Given the description of an element on the screen output the (x, y) to click on. 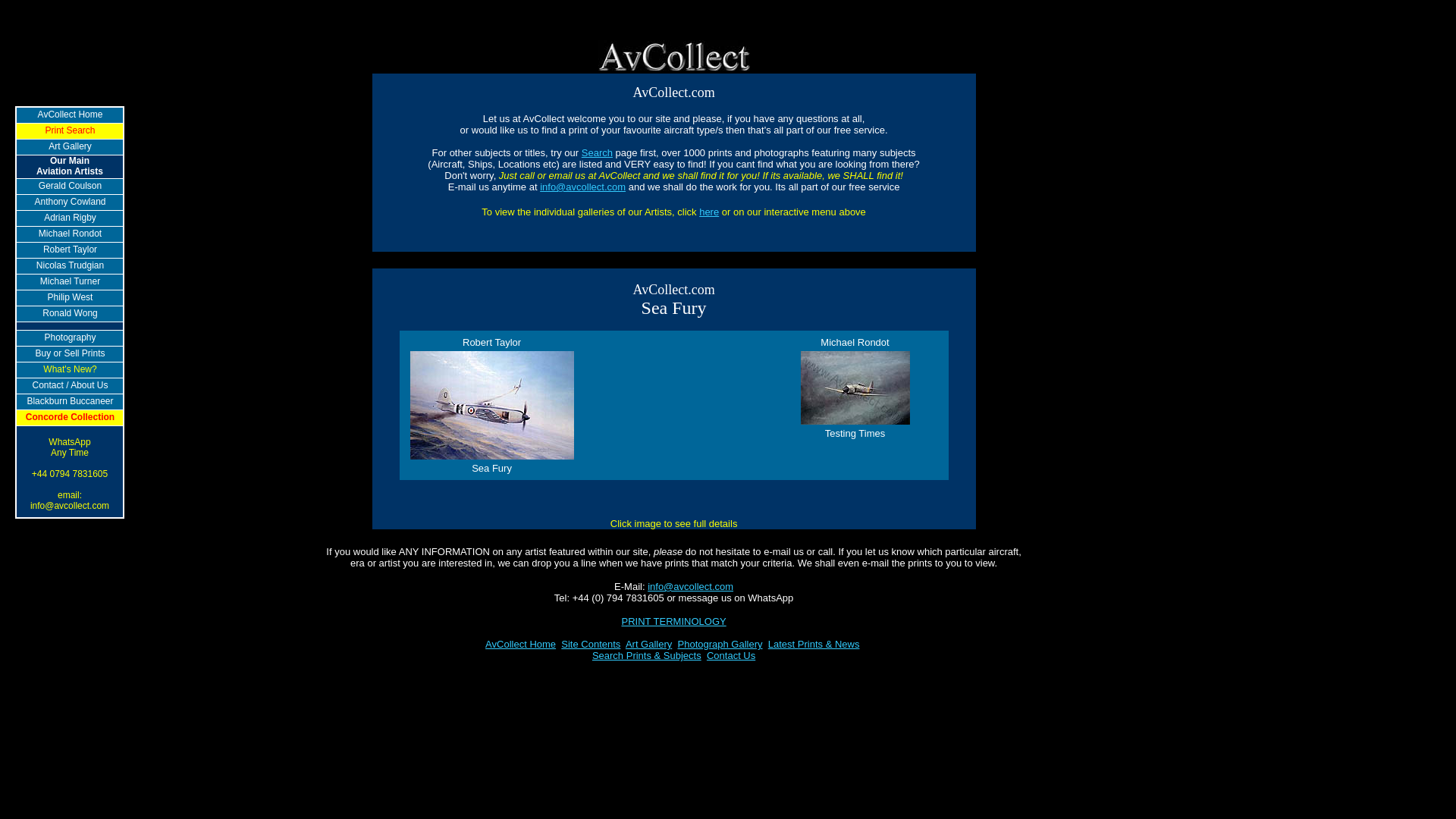
Art Gallery (648, 644)
here (708, 211)
AvCollect Home (578, 649)
Site Contents (590, 644)
Contact Us (730, 655)
Search (596, 152)
PRINT TERMINOLOGY (673, 621)
Photograph Gallery (720, 644)
